Given the description of an element on the screen output the (x, y) to click on. 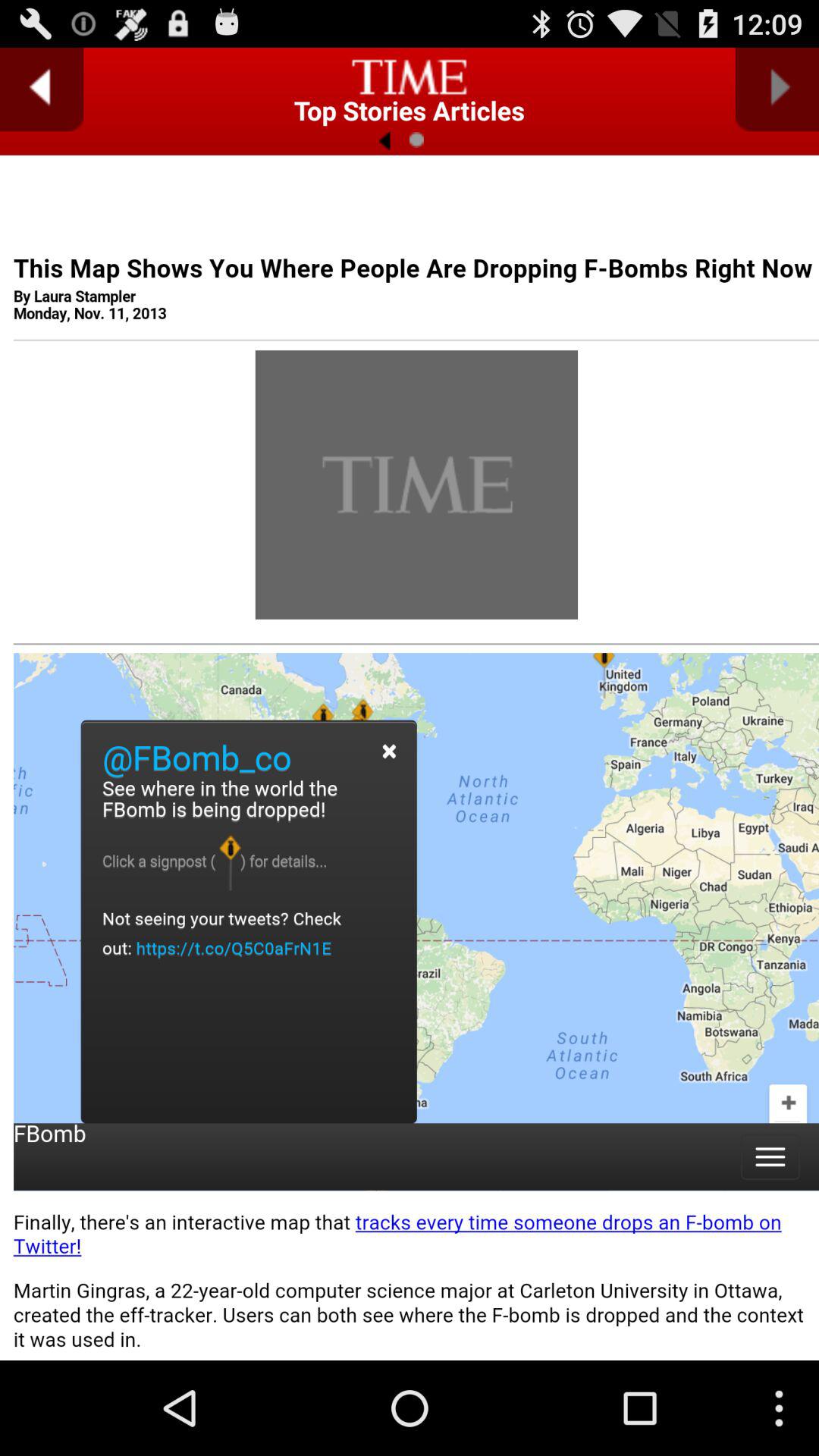
go forward (777, 89)
